Given the description of an element on the screen output the (x, y) to click on. 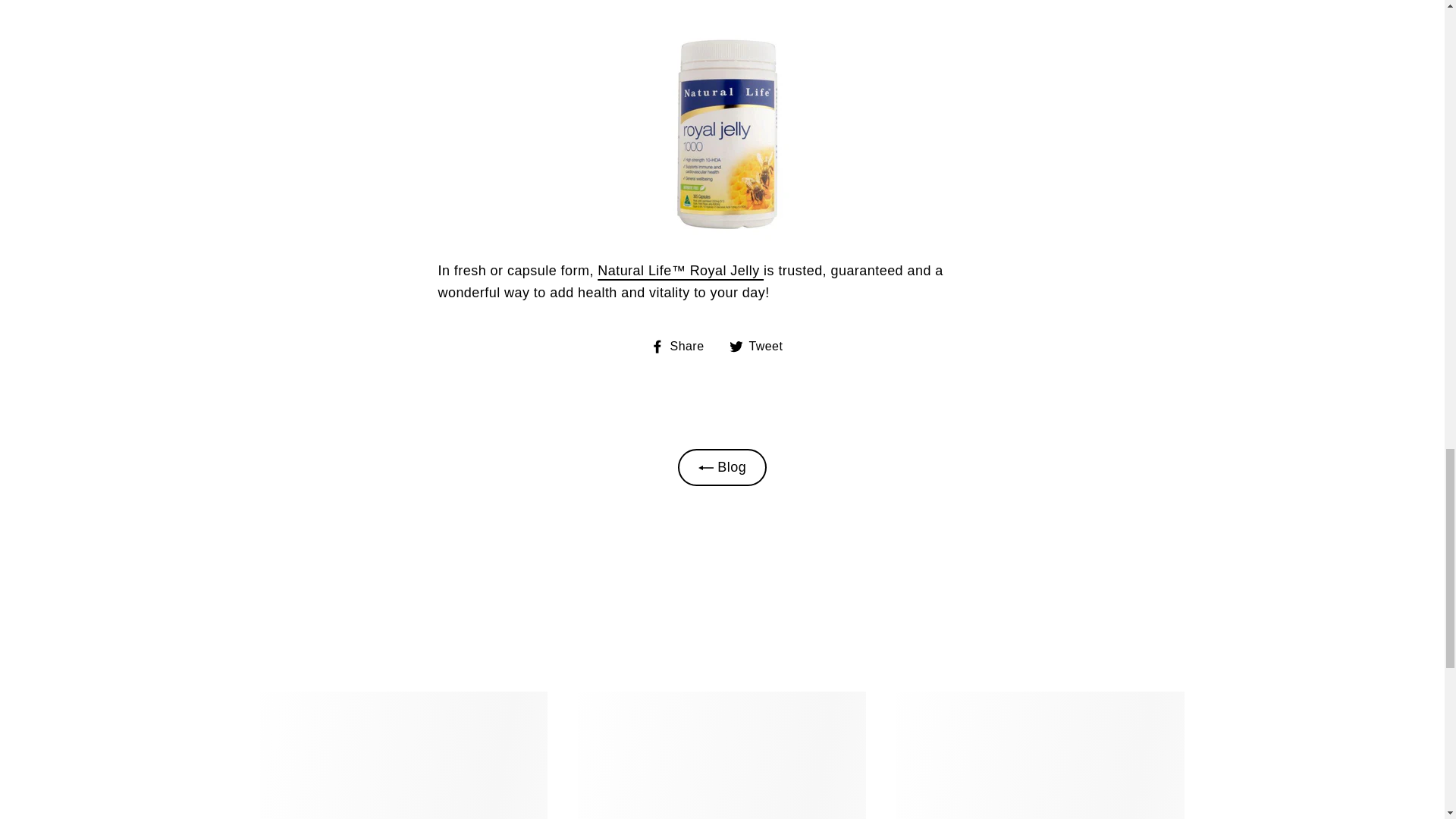
Share on Facebook (683, 345)
Royal jelly (679, 270)
Tweet on Twitter (761, 345)
